Given the description of an element on the screen output the (x, y) to click on. 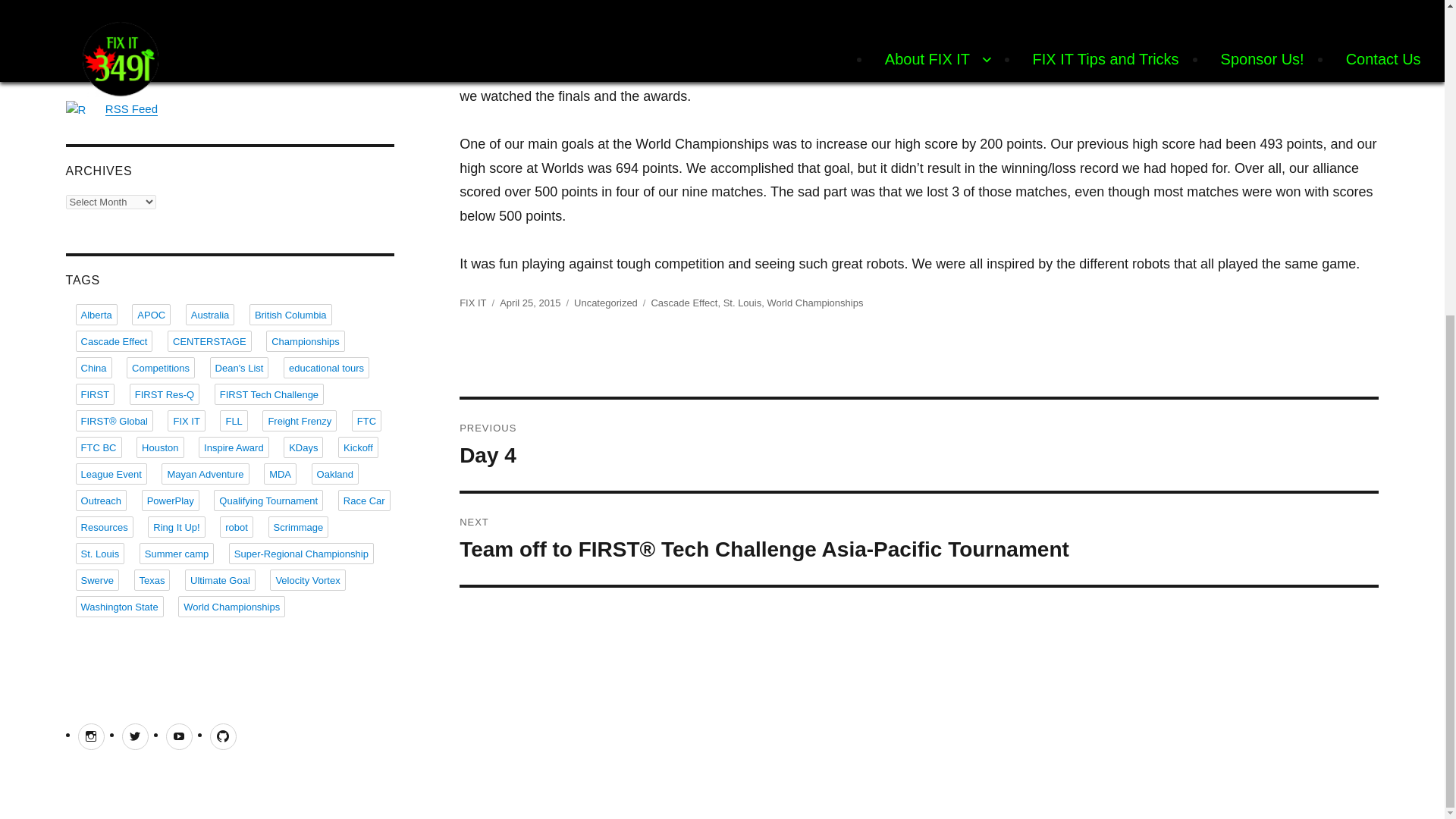
World Championships (815, 302)
Uncategorized (605, 302)
FIX IT (919, 444)
April 25, 2015 (473, 302)
Cascade Effect (529, 302)
RSS Feed (683, 302)
SEARCH (130, 108)
St. Louis (381, 11)
Alberta (742, 302)
